Given the description of an element on the screen output the (x, y) to click on. 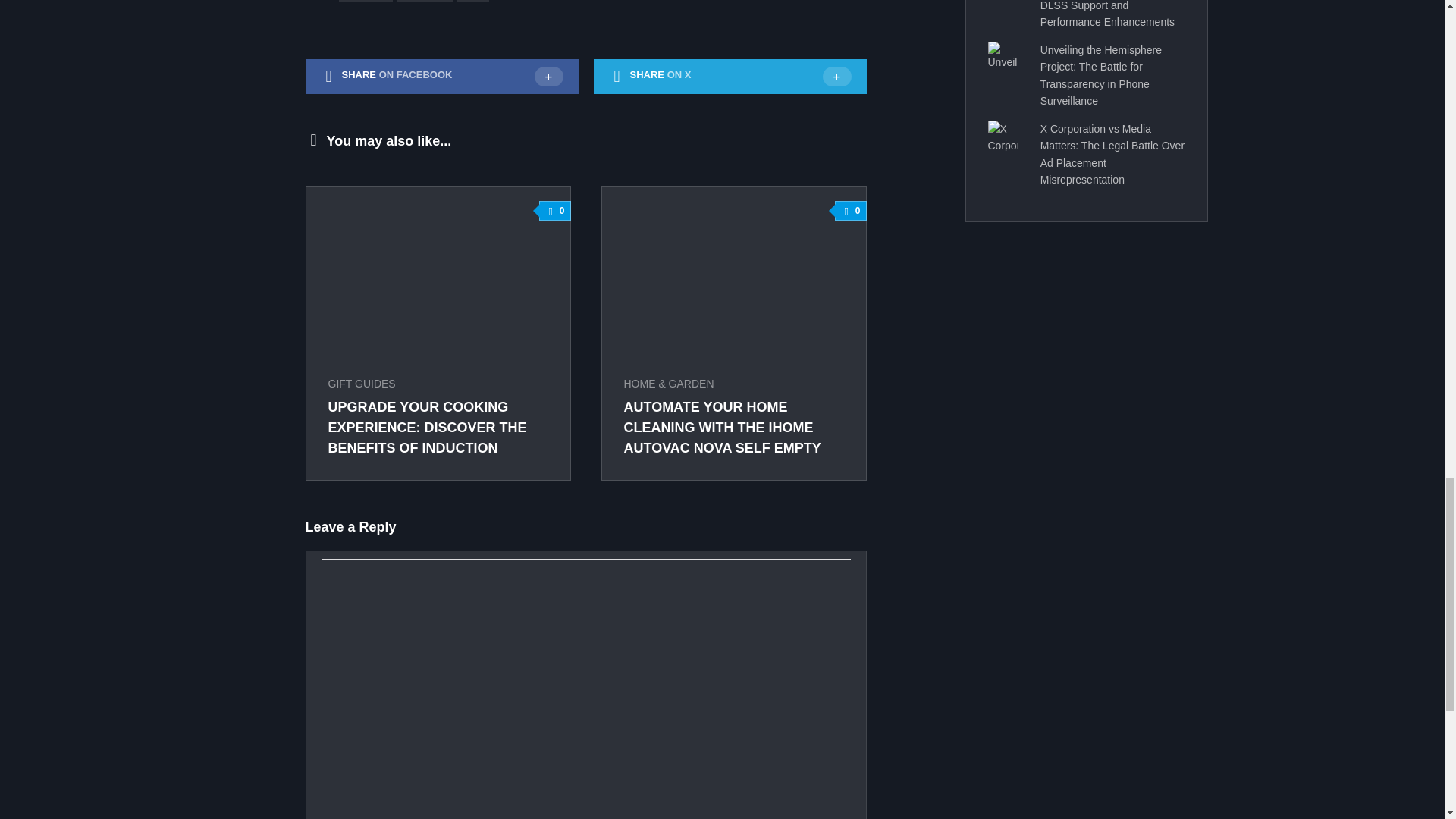
0 (850, 210)
GIFT GUIDES (360, 383)
gift guide (366, 1)
Gift Ideas (424, 1)
SHARE ON FACEBOOK (441, 76)
Gifts (473, 1)
SHARE ON X (729, 76)
0 (554, 210)
